Given the description of an element on the screen output the (x, y) to click on. 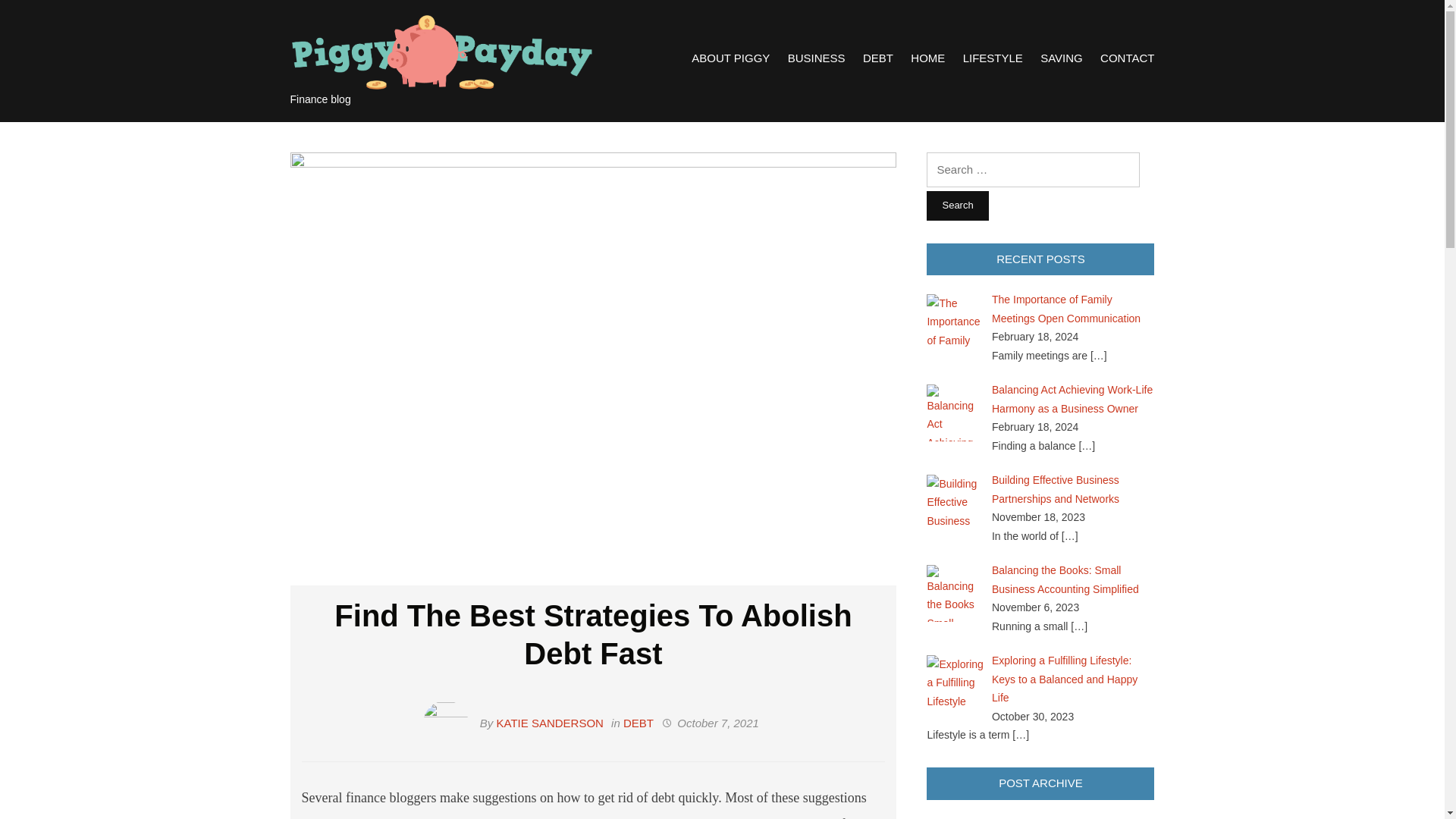
Search (957, 205)
Search (957, 205)
HOME (927, 58)
LIFESTYLE (992, 58)
DEBT (638, 722)
Building Effective Business Partnerships and Networks (1055, 489)
Balancing the Books: Small Business Accounting Simplified (1064, 579)
ABOUT PIGGY (730, 58)
Posts by Katie Sanderson (550, 722)
CONTACT (1127, 58)
SAVING (1062, 58)
February 2024 (960, 818)
DEBT (878, 58)
